Given the description of an element on the screen output the (x, y) to click on. 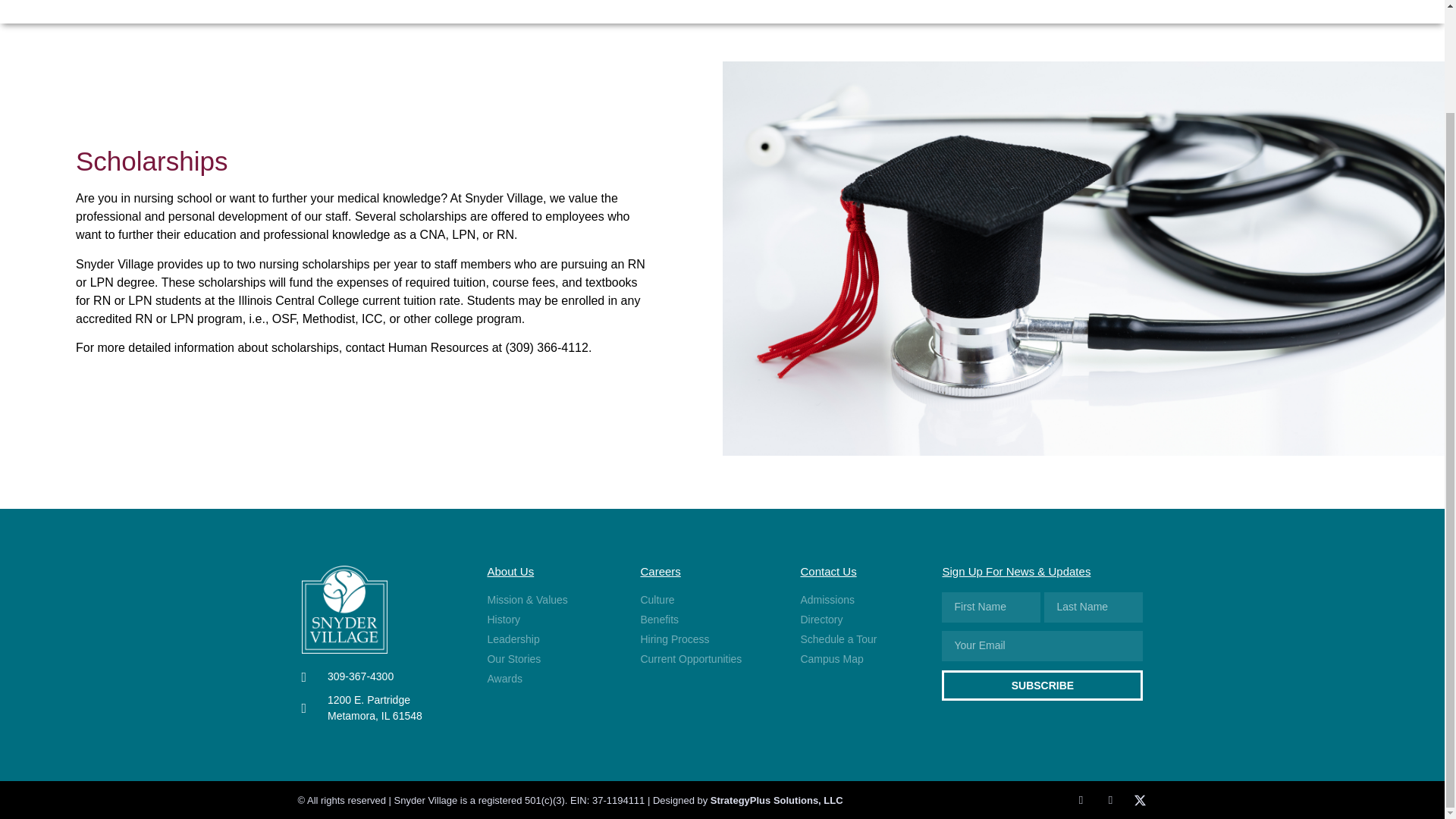
Culture (708, 600)
309-367-4300 (382, 676)
Leadership (551, 639)
Admissions (382, 707)
Directory (858, 600)
Current Opportunities (858, 619)
Awards (708, 659)
Benefits (551, 678)
Our Stories (708, 619)
History (551, 659)
Hiring Process (551, 619)
Schedule a Tour (708, 639)
